Given the description of an element on the screen output the (x, y) to click on. 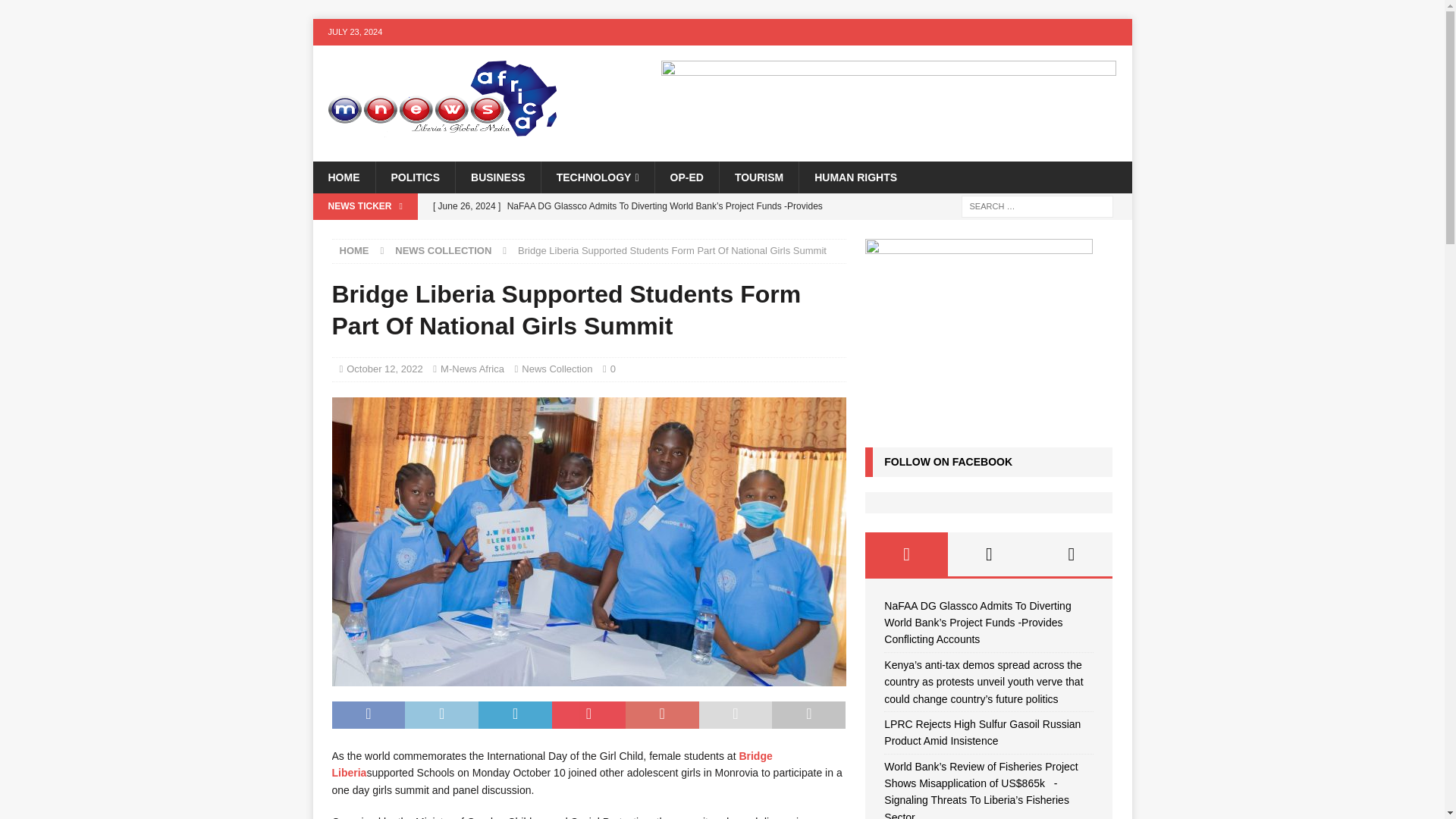
October 12, 2022 (384, 368)
TOURISM (758, 177)
POLITICS (414, 177)
BUSINESS (497, 177)
Search (56, 11)
TECHNOLOGY (596, 177)
NEWS COLLECTION (443, 250)
M-News Africa (472, 368)
HUMAN RIGHTS (854, 177)
HOME (354, 250)
News Collection (556, 368)
Bridge Liberia (552, 764)
HOME (343, 177)
OP-ED (686, 177)
